Given the description of an element on the screen output the (x, y) to click on. 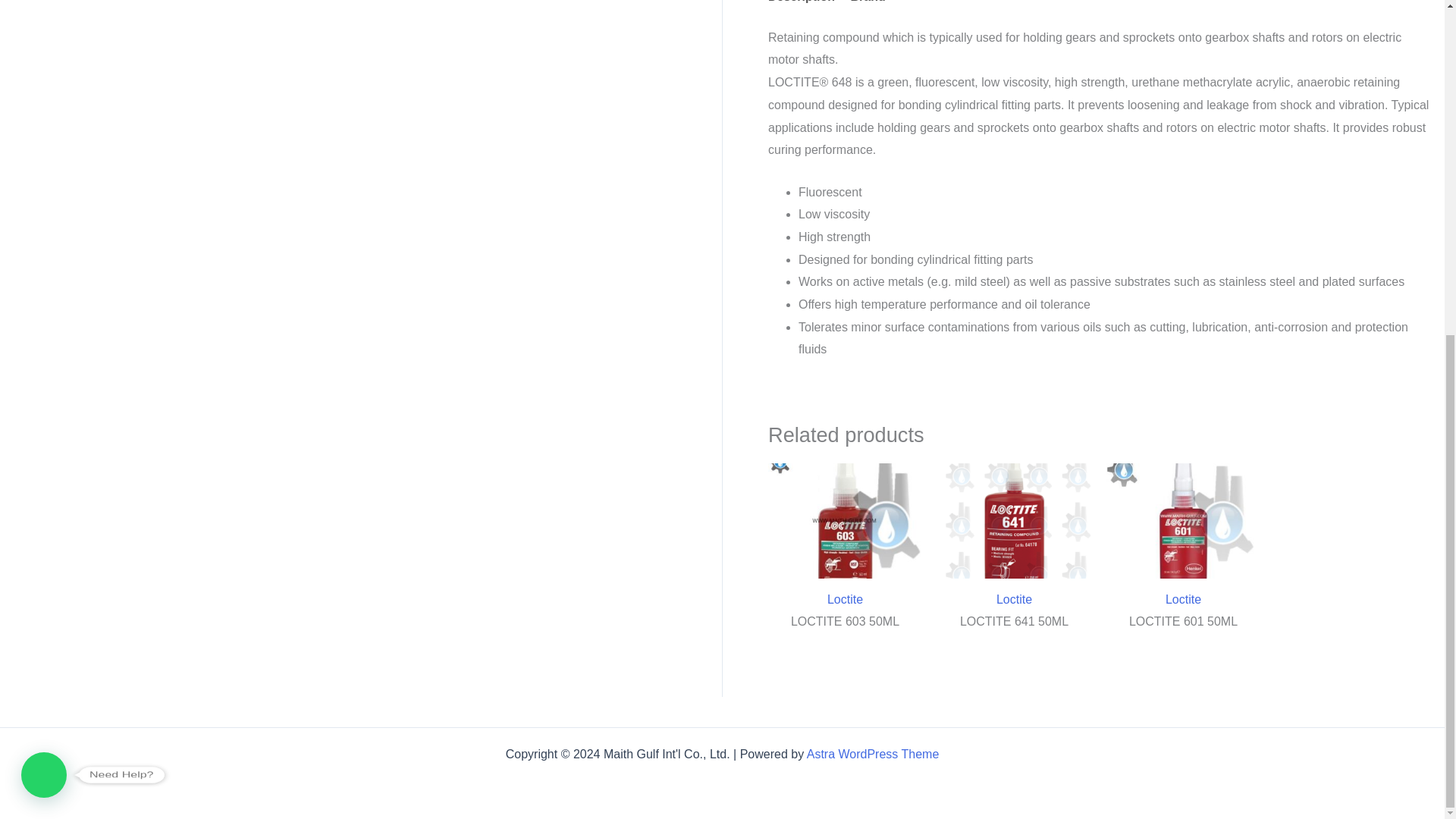
LOCTITE 641 50ML (1013, 625)
Loctite (1013, 599)
Loctite (1183, 599)
LOCTITE 601 50ML (1183, 625)
Description (801, 7)
LOCTITE 603 50ML (844, 625)
Loctite (845, 599)
Astra WordPress Theme (872, 753)
Brand (867, 7)
